Given the description of an element on the screen output the (x, y) to click on. 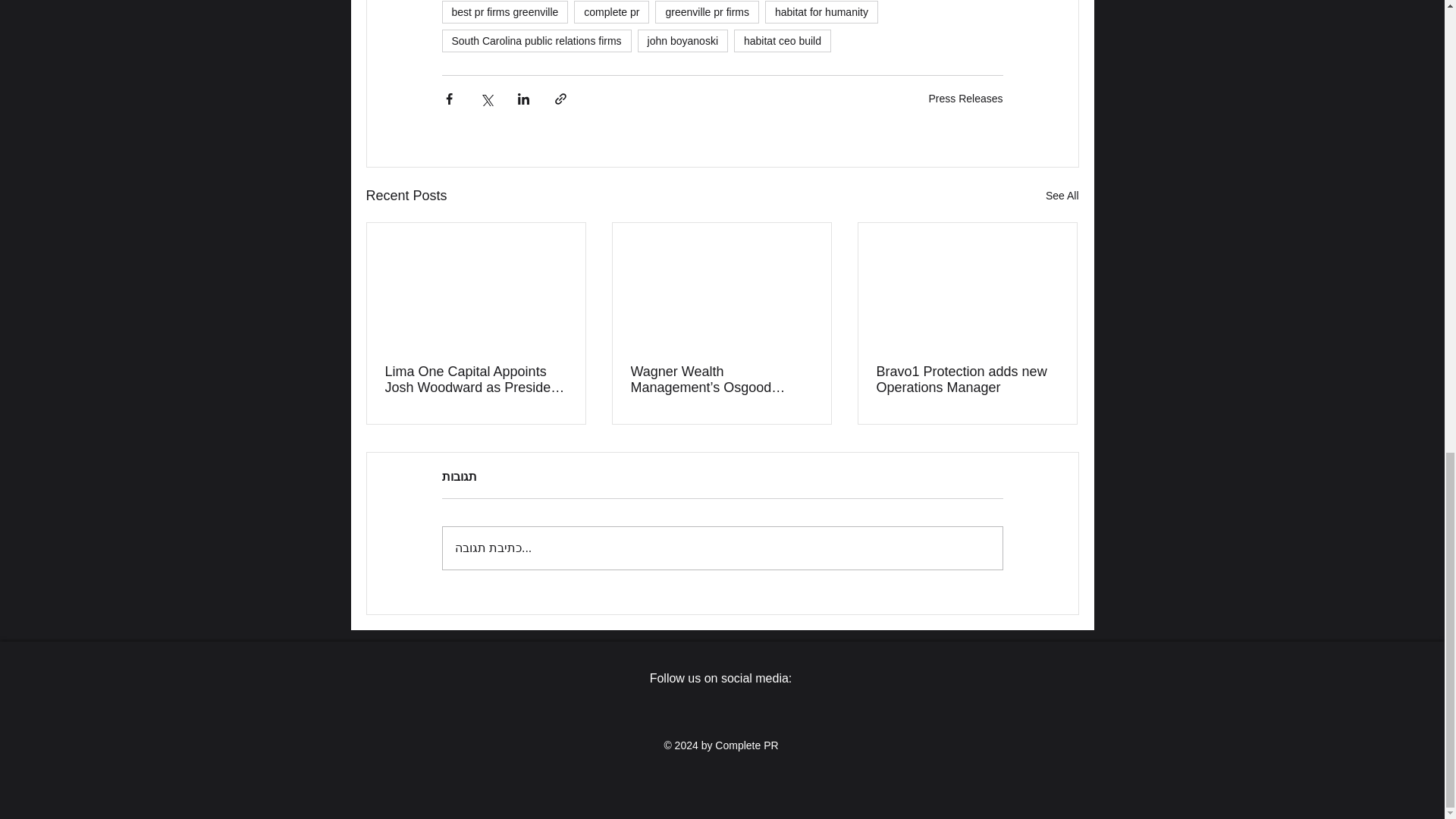
South Carolina public relations firms (535, 40)
habitat ceo build (782, 40)
Press Releases (965, 98)
complete pr (611, 11)
See All (1061, 196)
Bravo1 Protection adds new Operations Manager (967, 379)
greenville pr firms (706, 11)
habitat for humanity (821, 11)
john boyanoski (682, 40)
best pr firms greenville (504, 11)
